Given the description of an element on the screen output the (x, y) to click on. 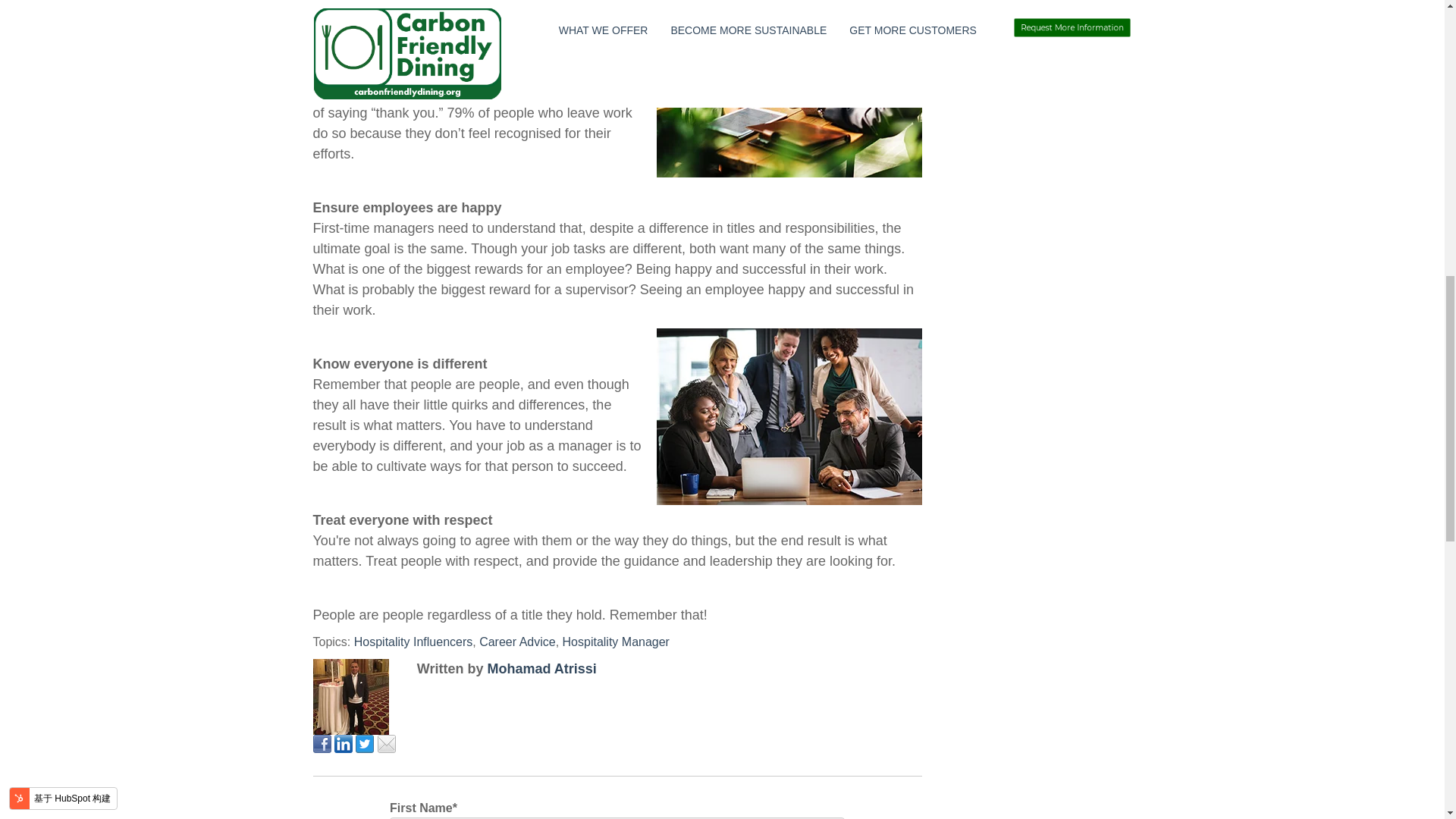
Hospitality Influencers (413, 641)
Mohamad Atrissi (540, 668)
Hospitality Manager (615, 641)
Career Advice (517, 641)
